Given the description of an element on the screen output the (x, y) to click on. 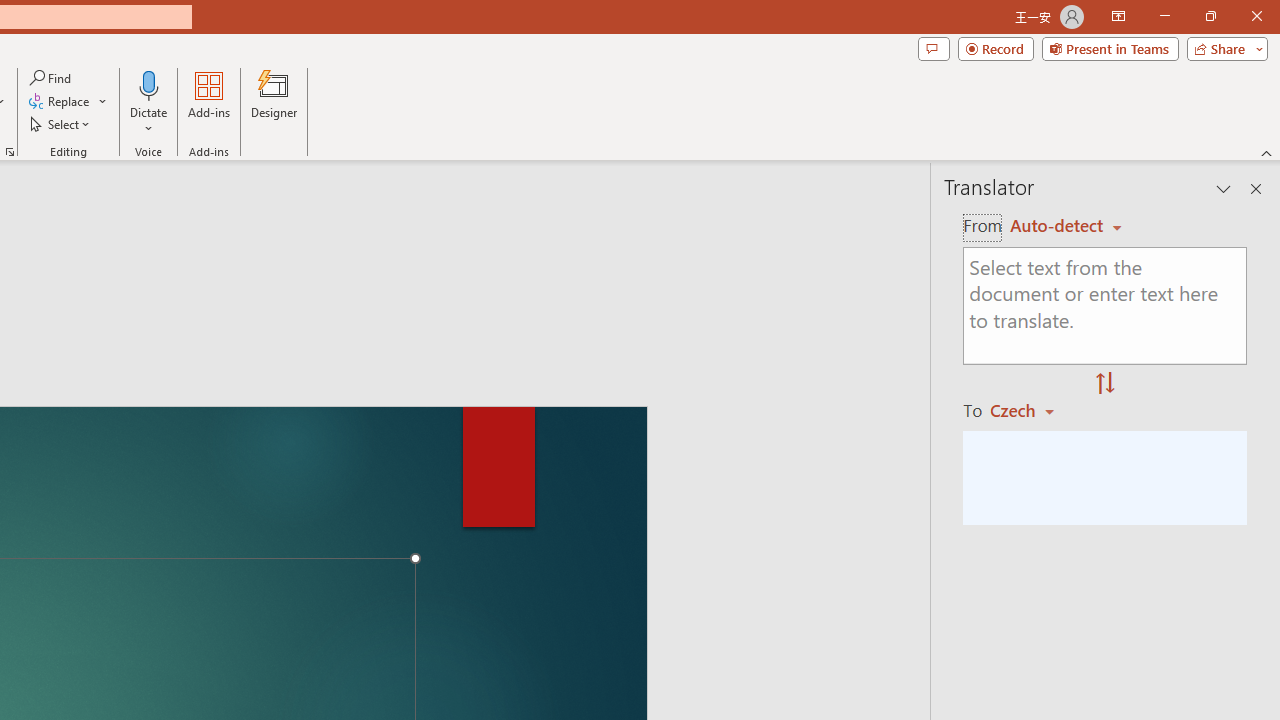
Auto-detect (1066, 225)
